Given the description of an element on the screen output the (x, y) to click on. 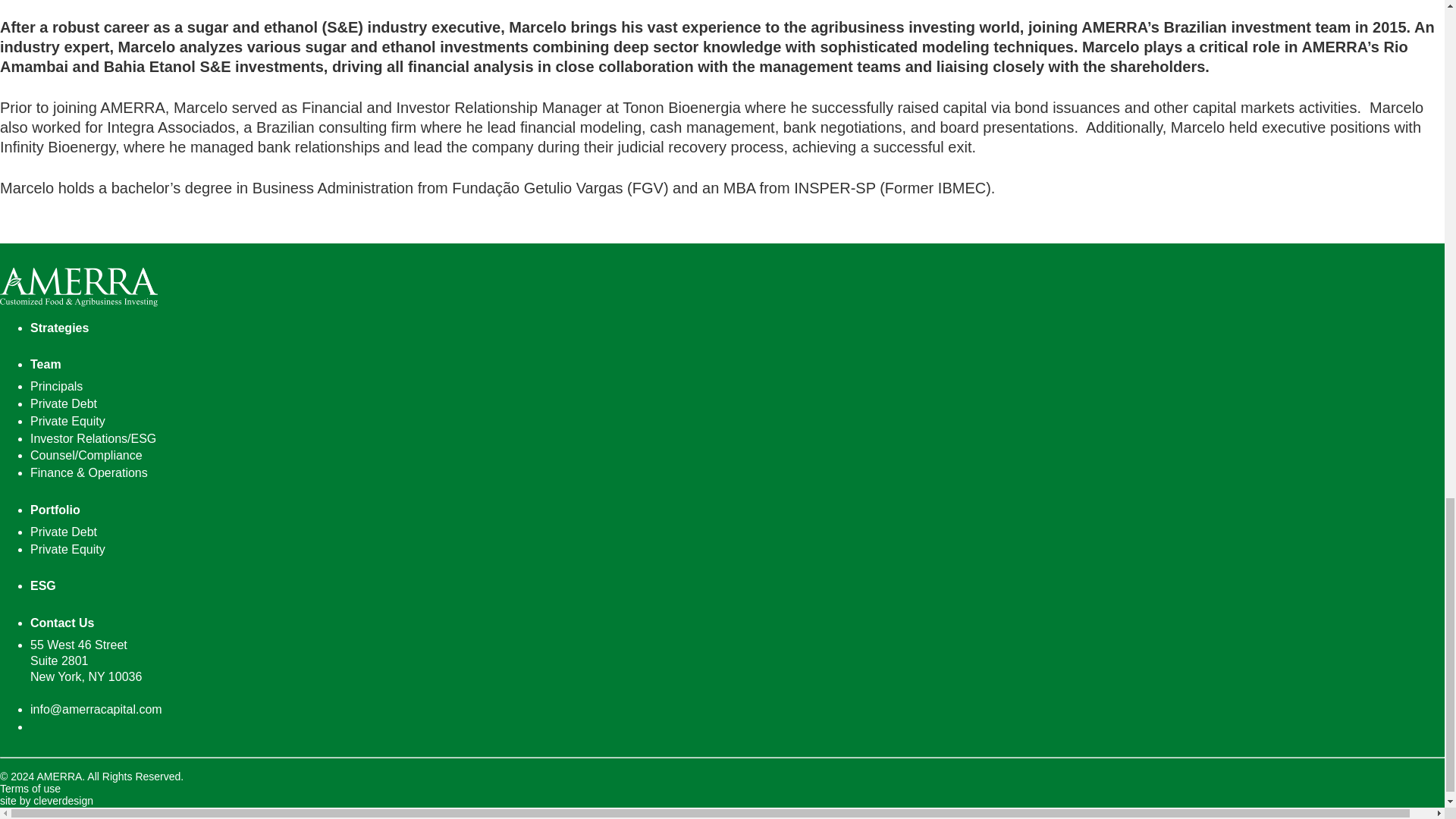
Private Debt (63, 403)
ESG (737, 586)
Team (737, 365)
Private Debt (63, 531)
Private Equity (67, 549)
Principals (56, 386)
site by cleverdesign (46, 800)
